Given the description of an element on the screen output the (x, y) to click on. 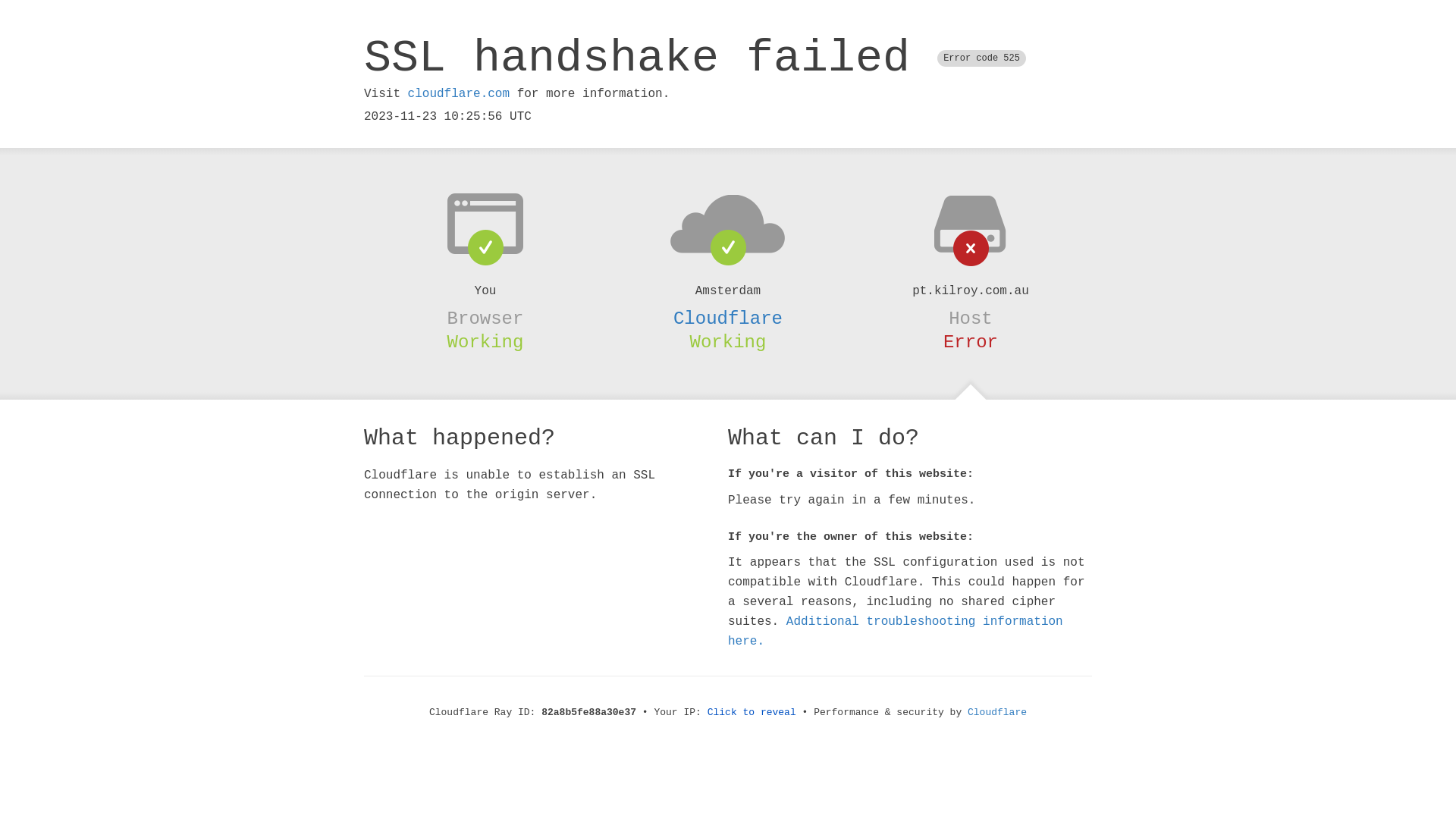
cloudflare.com Element type: text (458, 93)
Cloudflare Element type: text (727, 318)
Click to reveal Element type: text (751, 712)
Cloudflare Element type: text (996, 712)
Additional troubleshooting information here. Element type: text (895, 631)
